Given the description of an element on the screen output the (x, y) to click on. 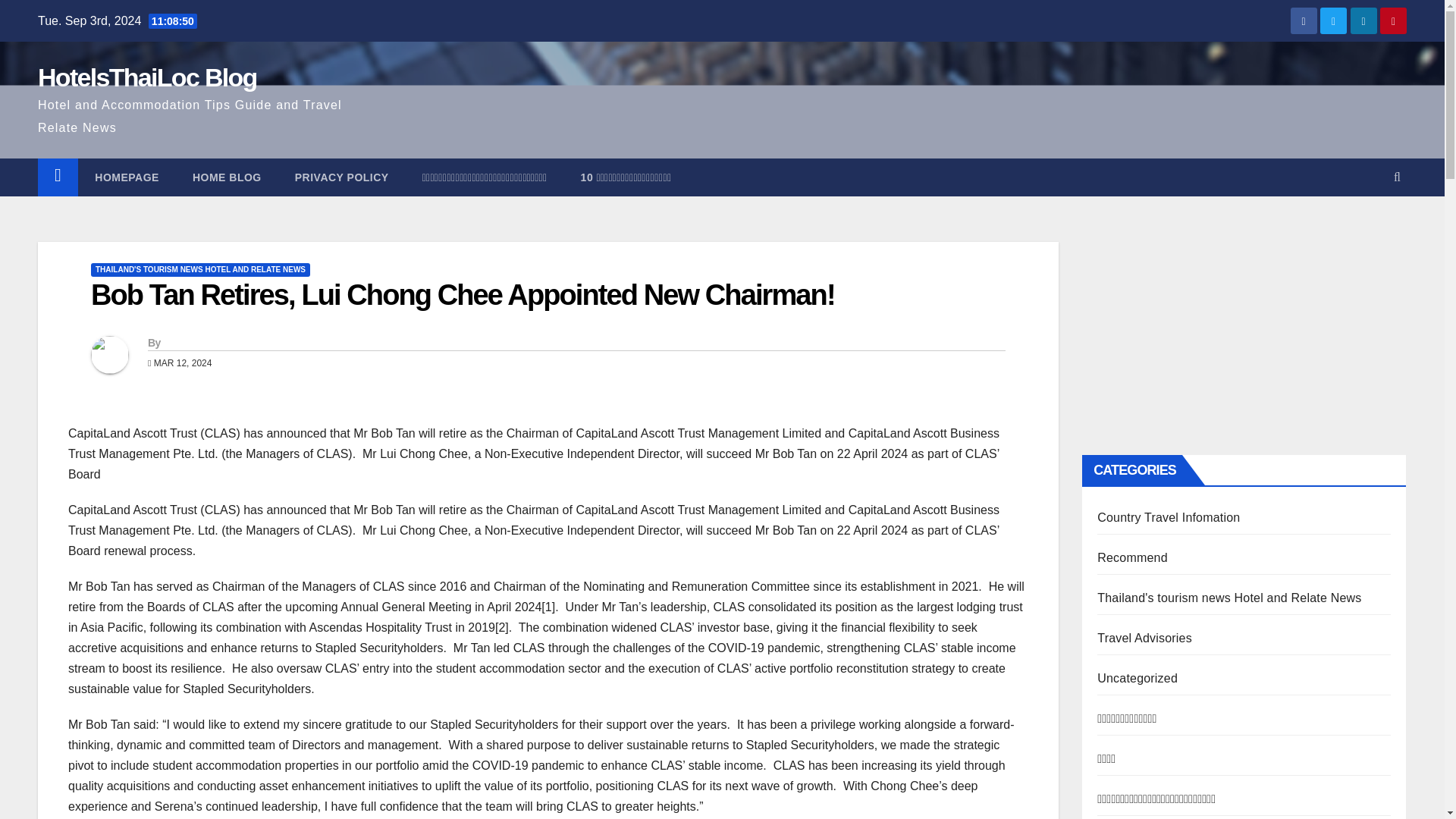
Recommend (1132, 557)
Country Travel Infomation (1168, 517)
THAILAND'S TOURISM NEWS HOTEL AND RELATE NEWS (200, 269)
HOME BLOG (227, 177)
Thailand's tourism news Hotel and Relate News (1229, 597)
PRIVACY POLICY (342, 177)
Bob Tan Retires, Lui Chong Chee Appointed New Chairman! (462, 295)
HotelsThaiLoc Blog (147, 77)
